Given the description of an element on the screen output the (x, y) to click on. 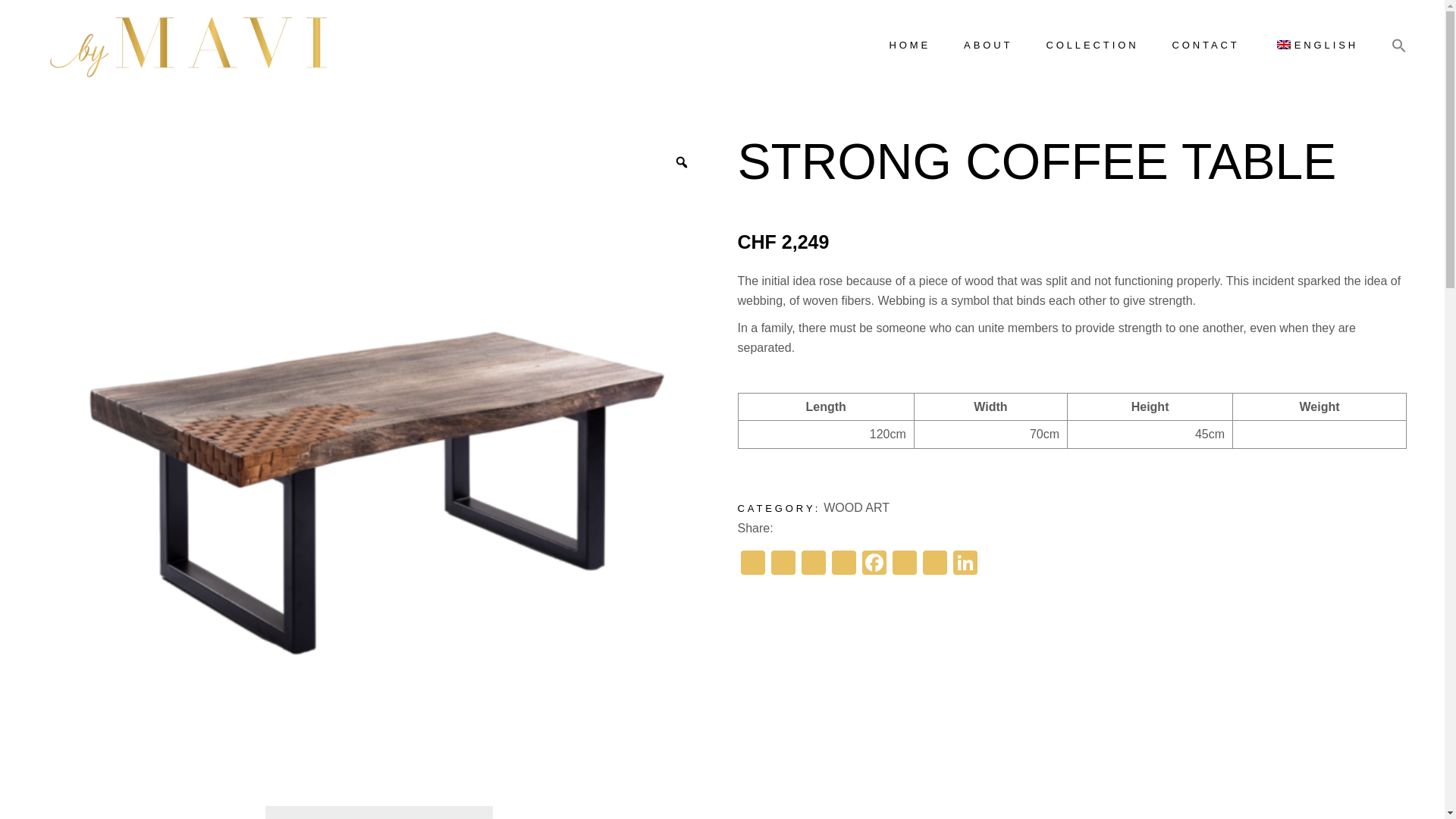
ENGLISH (1315, 45)
COLLECTION (1091, 45)
Strong Coffe Table - Strong (150, 812)
English (1283, 44)
